Given the description of an element on the screen output the (x, y) to click on. 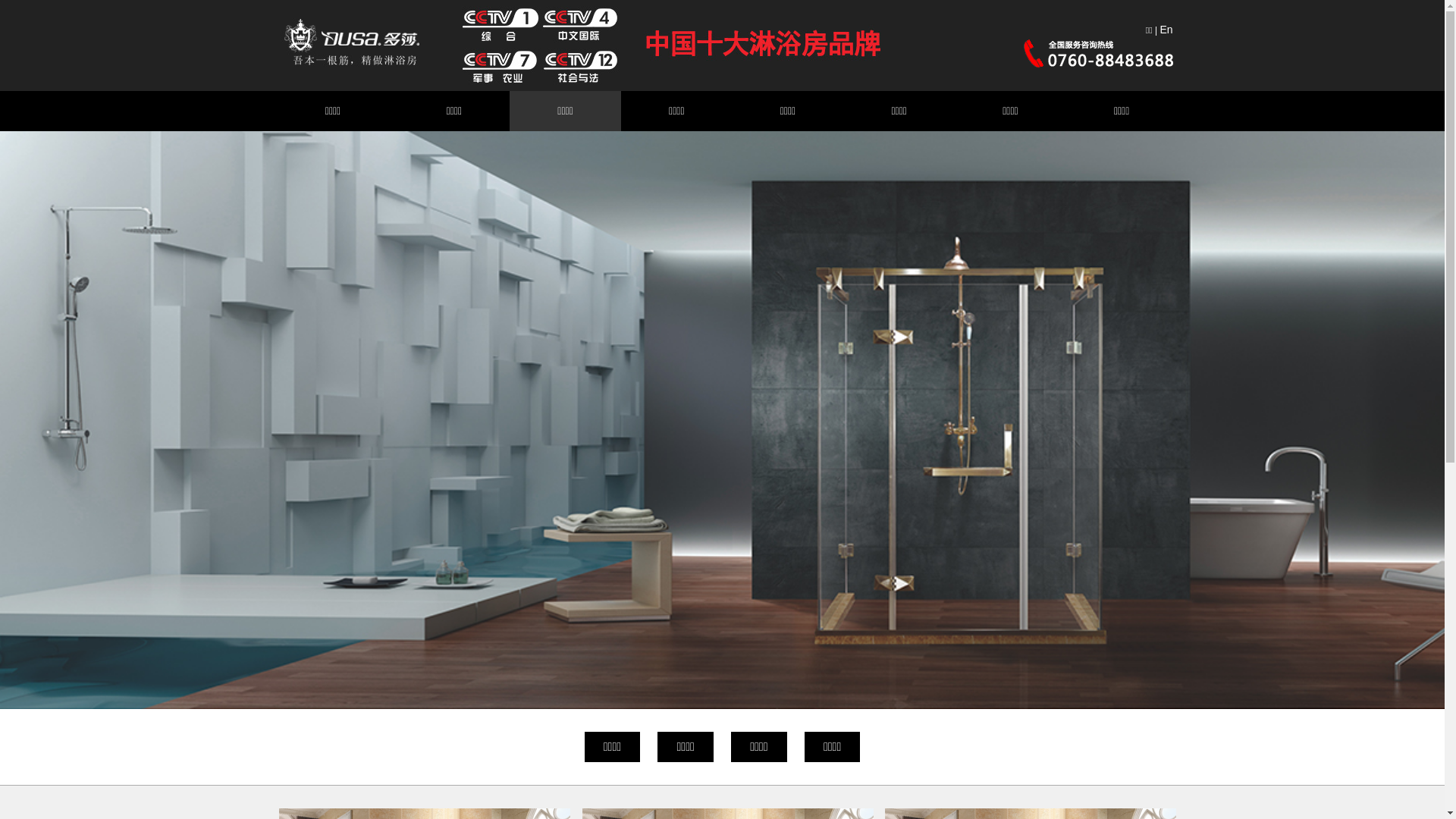
En Element type: text (1165, 28)
